Given the description of an element on the screen output the (x, y) to click on. 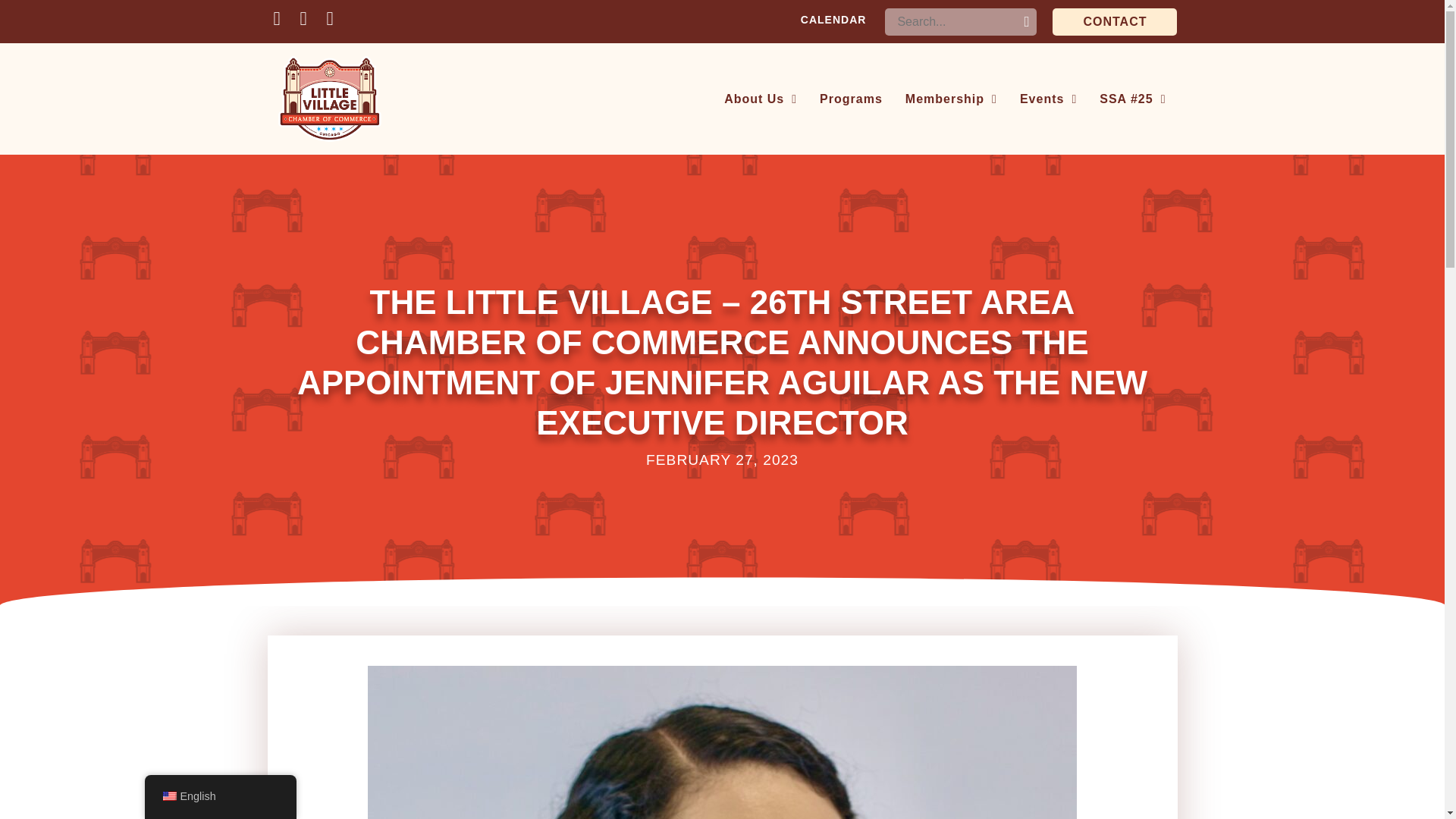
Search (1023, 24)
About Us (760, 98)
Jennifer Aguilar Headshot 1 2 (722, 742)
Search (1023, 24)
CONTACT (1114, 21)
Events (1047, 98)
Search (1023, 24)
Programs (850, 98)
LVCC (327, 98)
English (168, 795)
CALENDAR (834, 19)
Membership (951, 98)
